Given the description of an element on the screen output the (x, y) to click on. 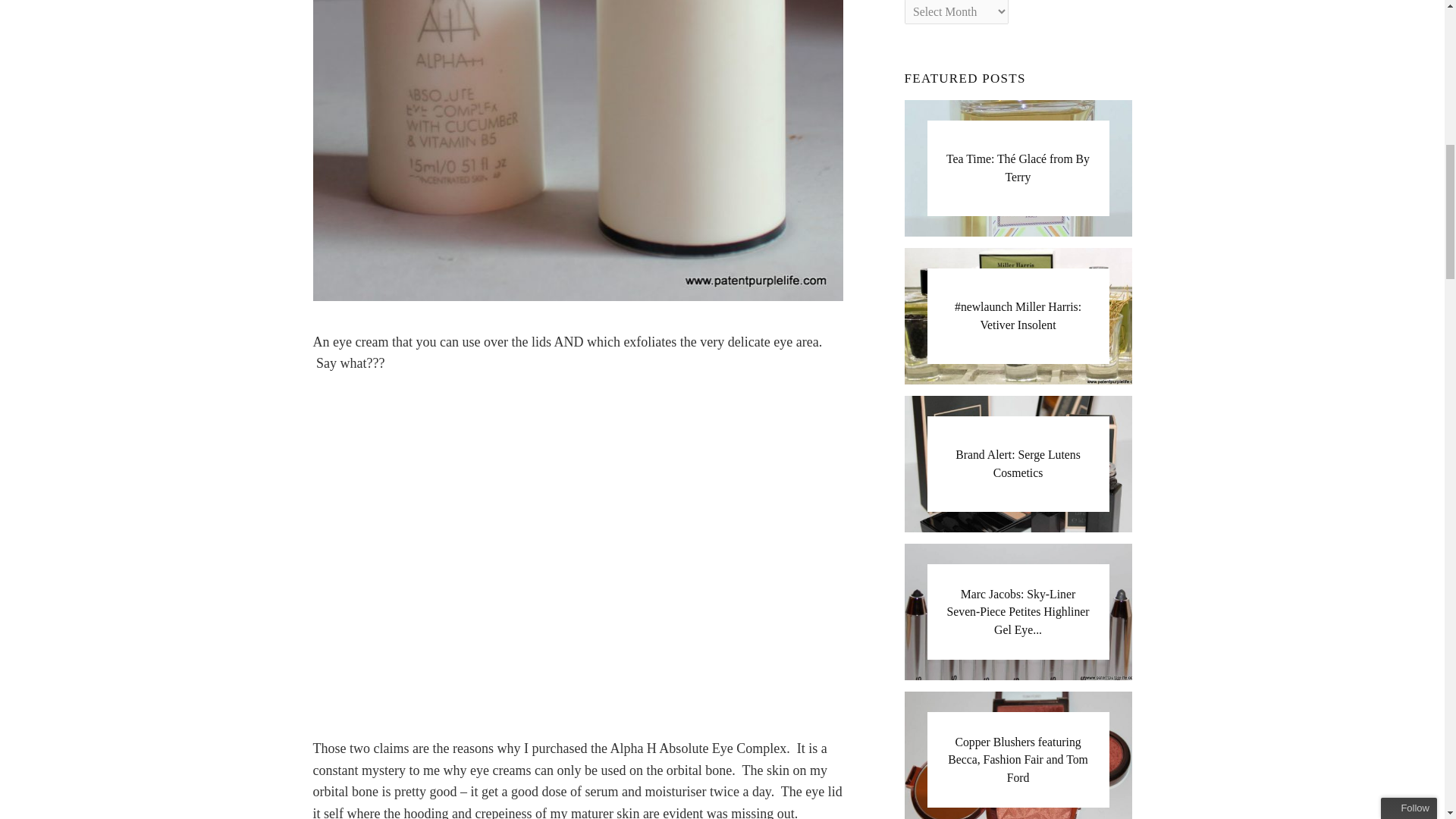
Sign me up! (1323, 167)
